Given the description of an element on the screen output the (x, y) to click on. 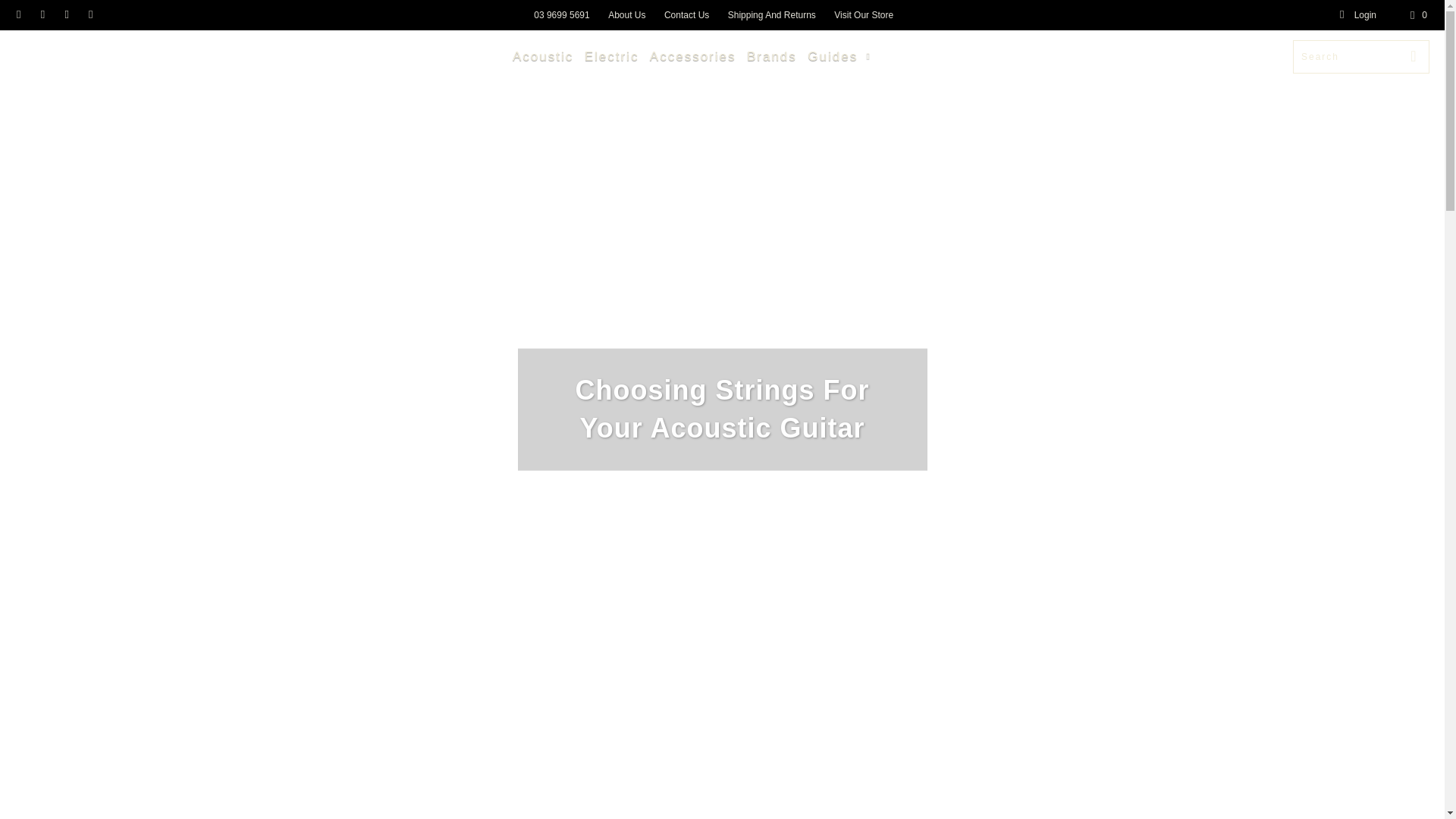
Login (1357, 15)
Guides (841, 56)
Shipping And Returns (771, 15)
Brands (771, 56)
Acoustic (542, 56)
Electric (612, 56)
Acoustic Centre on Facebook (17, 14)
Acoustic Centre on YouTube (41, 14)
My Account  (1357, 15)
Visit Our Store (863, 15)
